Given the description of an element on the screen output the (x, y) to click on. 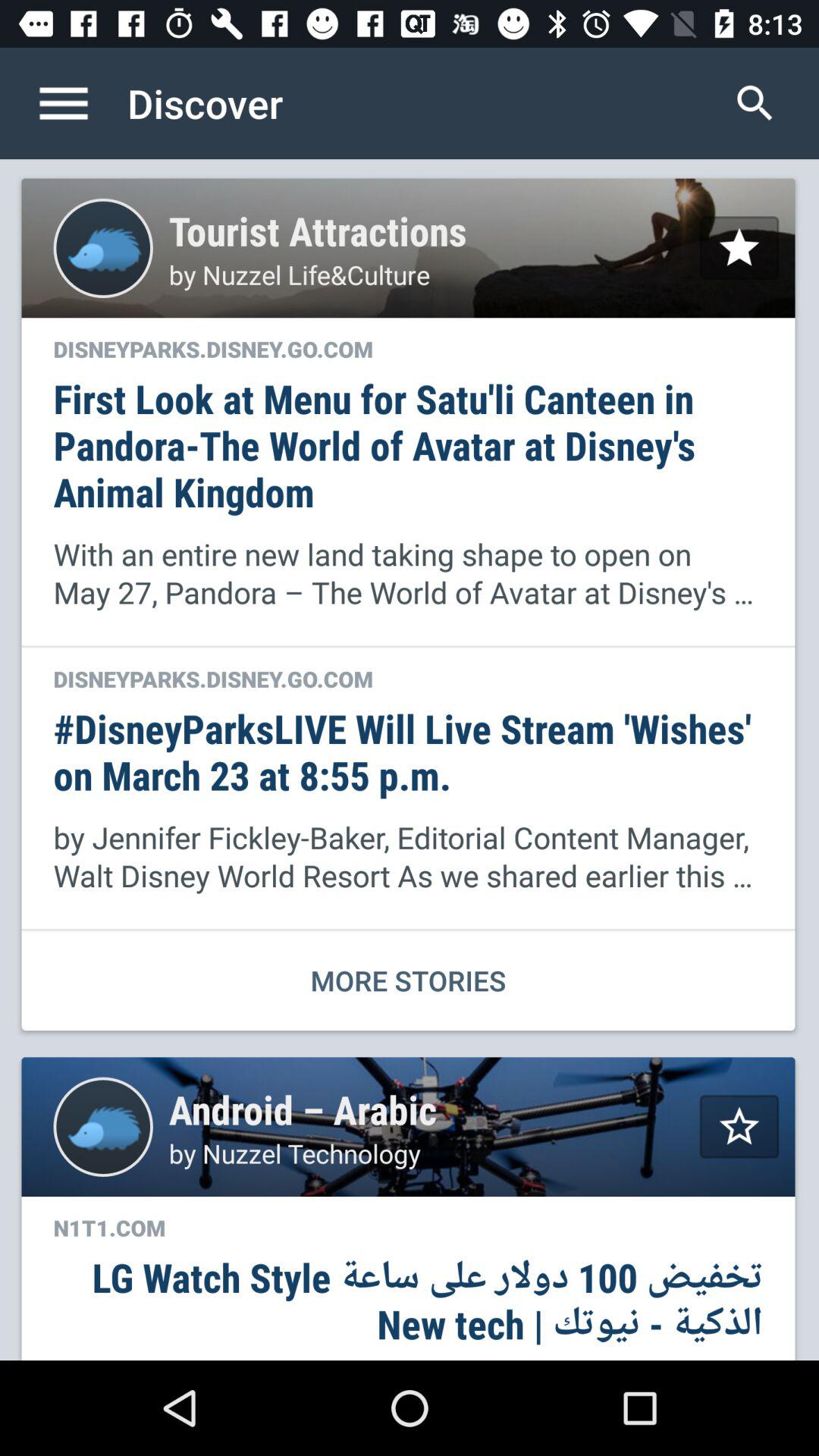
click for menu (79, 103)
